Given the description of an element on the screen output the (x, y) to click on. 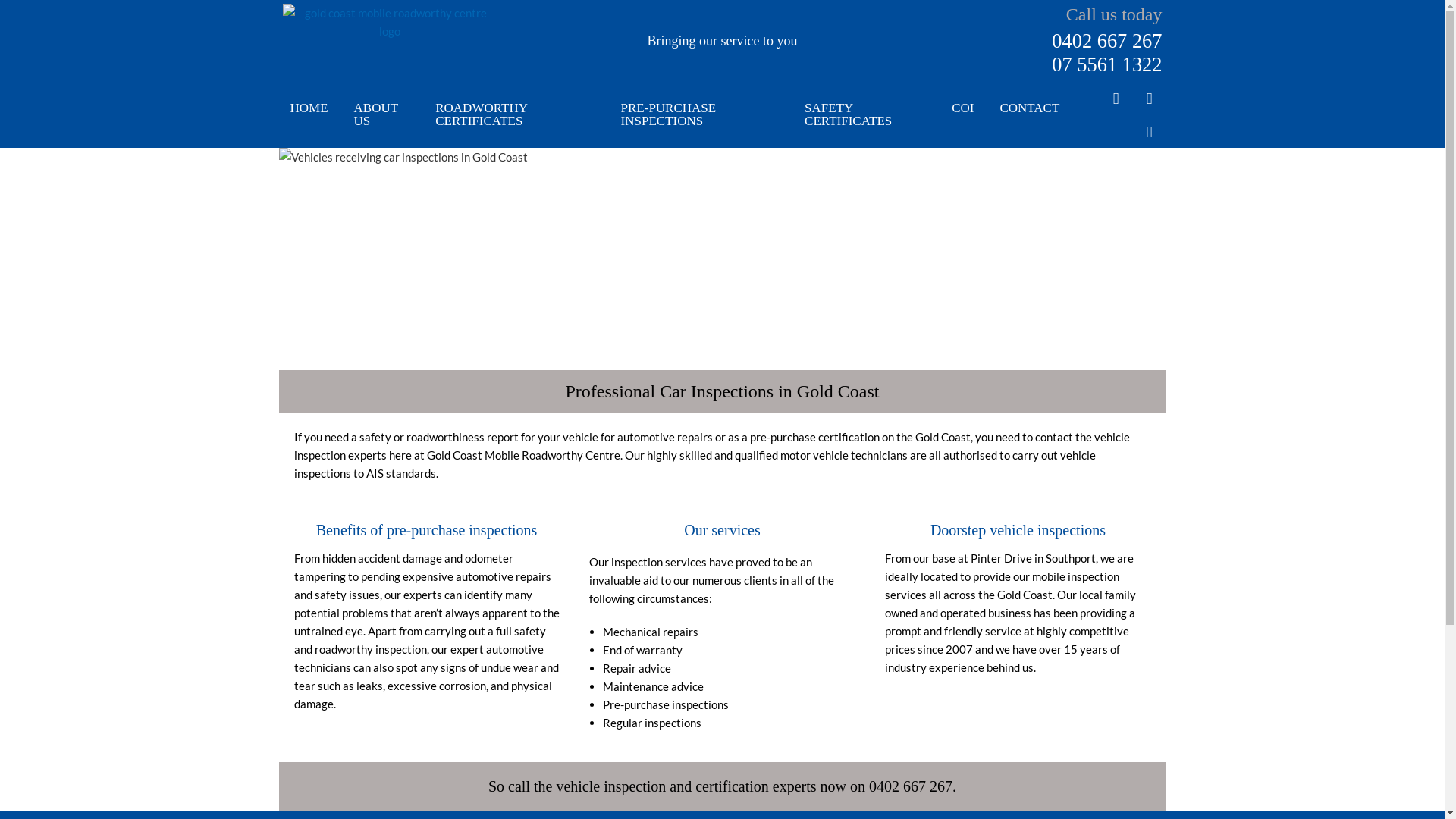
gold coast mobile roadworthy centre repair cars on workshop Element type: hover (722, 258)
SAFETY CERTIFICATES Element type: text (864, 114)
COI Element type: text (962, 107)
07 5561 1322 Element type: text (1106, 64)
CONTACT Element type: text (1029, 107)
PRE-PURCHASE INSPECTIONS Element type: text (700, 114)
0402 667 267 Element type: text (910, 786)
HOME Element type: text (308, 107)
0402 667 267 Element type: text (1106, 40)
ABOUT US Element type: text (382, 114)
ROADWORTHY CERTIFICATES Element type: text (514, 114)
gold coast mobile roadworthy centre logo Element type: hover (389, 21)
